Given the description of an element on the screen output the (x, y) to click on. 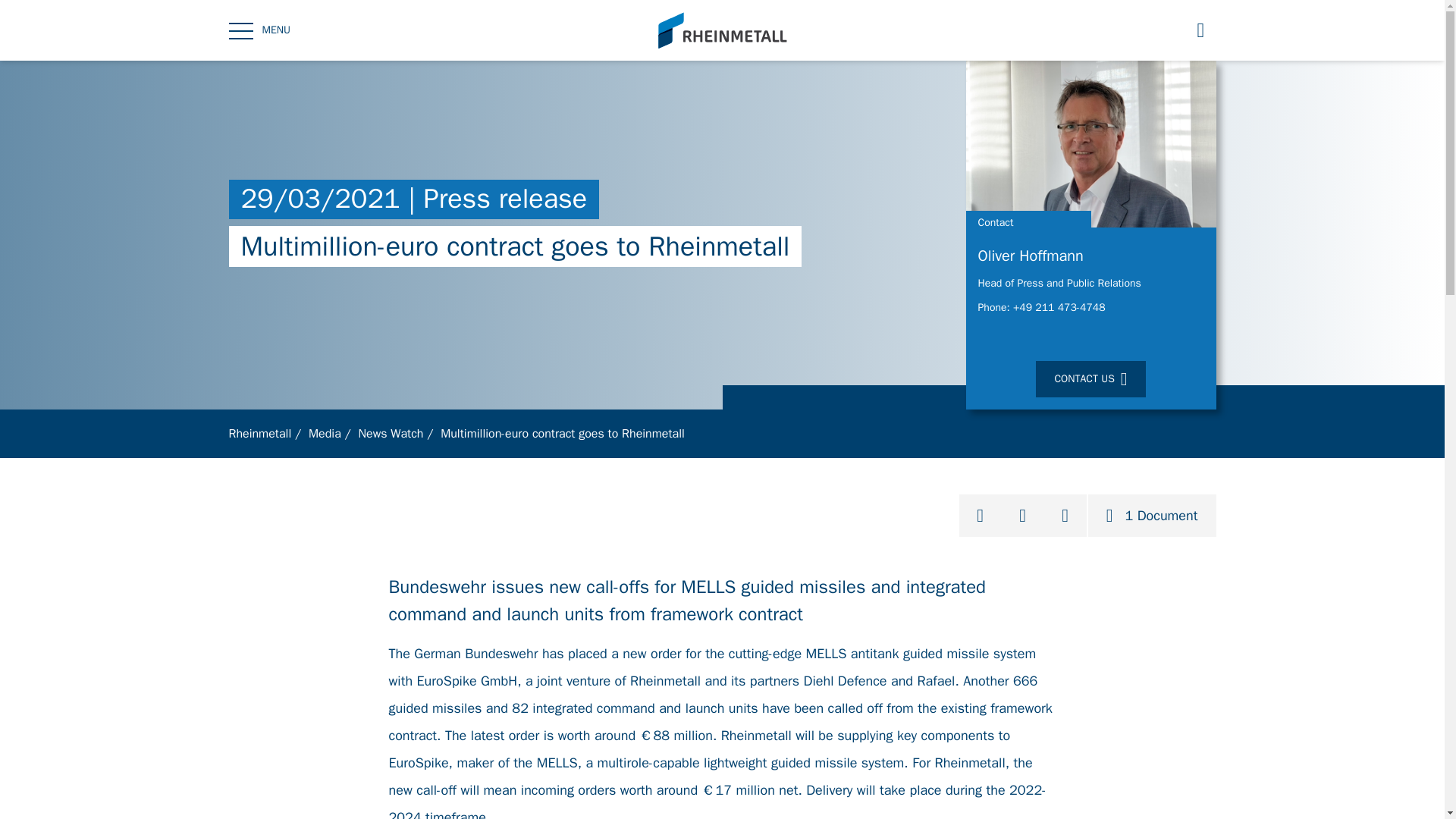
Oliver Hoffmann (1091, 260)
News Watch (390, 434)
shareOntwitter (980, 515)
Media (324, 434)
Rheinmetall (260, 434)
MENU (259, 30)
shareOnxing (1064, 515)
1 Document (1151, 515)
CONTACT US (1089, 379)
siteLogo (722, 30)
shareOnlinkedIn (1022, 515)
